Given the description of an element on the screen output the (x, y) to click on. 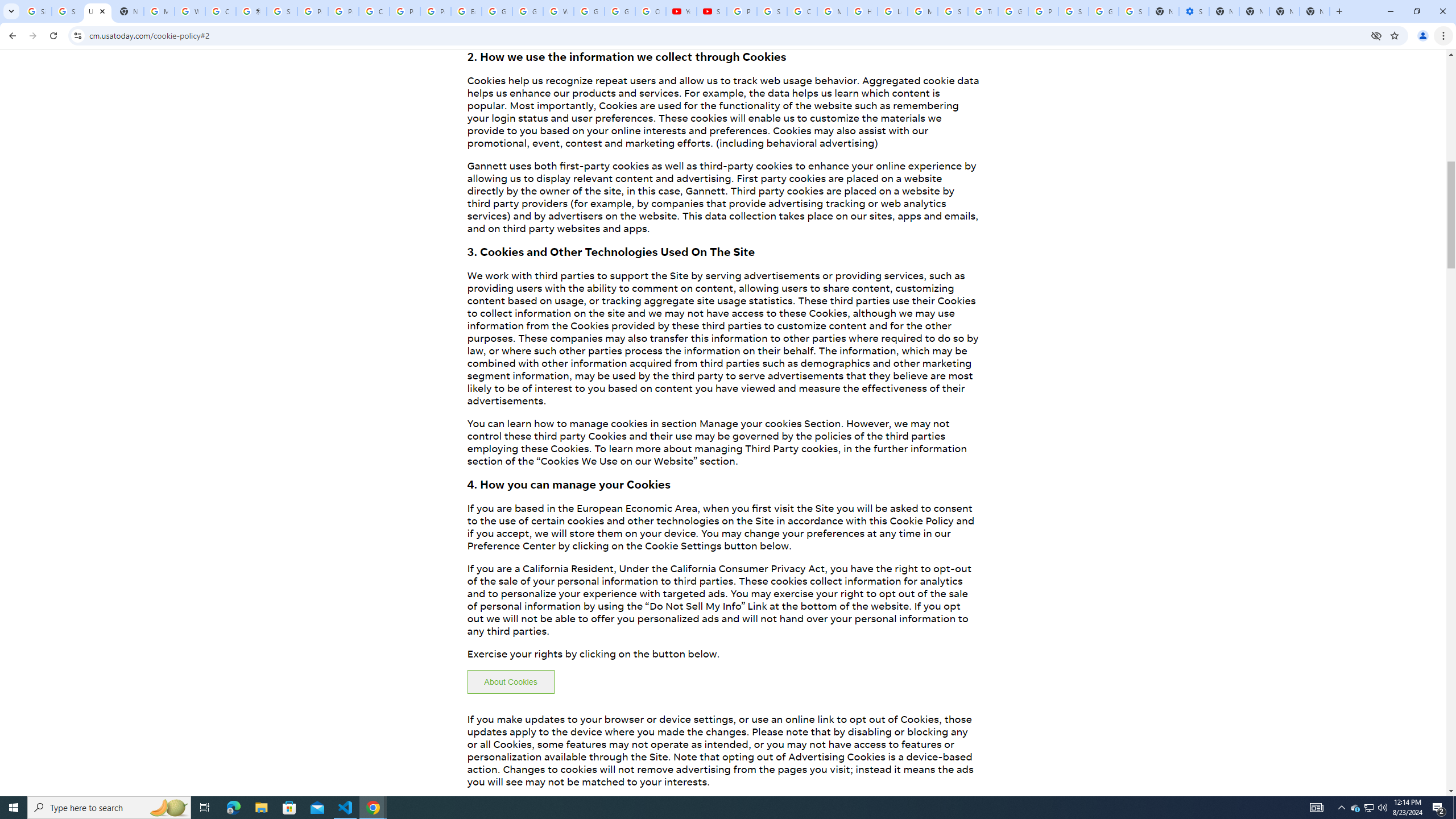
USA TODAY (97, 11)
Create your Google Account (373, 11)
Google Cybersecurity Innovations - Google Safety Center (1103, 11)
New Tab (1314, 11)
